Given the description of an element on the screen output the (x, y) to click on. 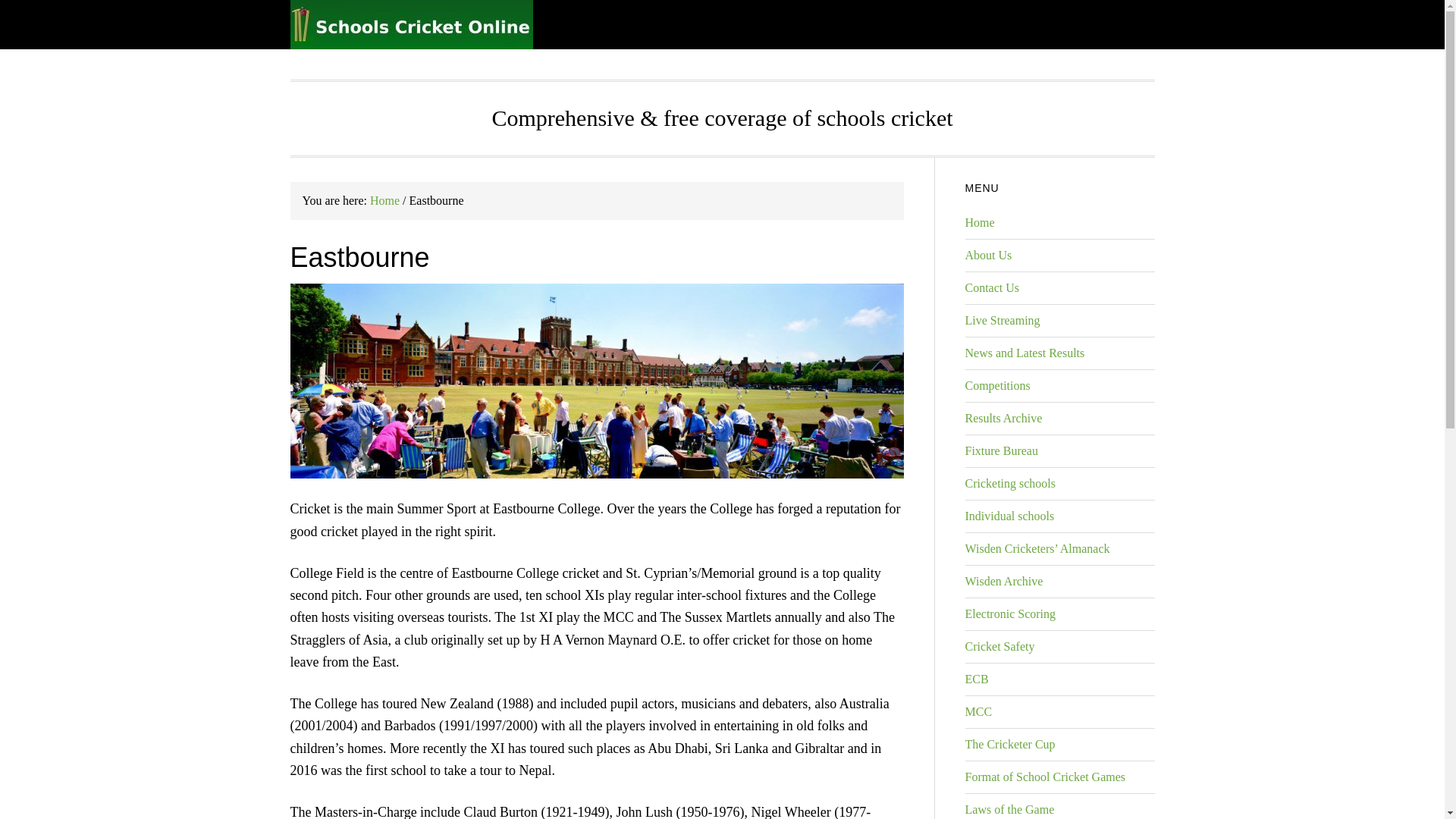
Cricketing schools (1009, 482)
Home (383, 200)
Contact Us (991, 287)
MCC (977, 711)
News and Latest Results (1023, 352)
Results Archive (1002, 418)
SCHOOLS CRICKET ONLINE (410, 24)
Wisden Archive (1002, 581)
Live Streaming (1001, 319)
ECB (975, 678)
